Given the description of an element on the screen output the (x, y) to click on. 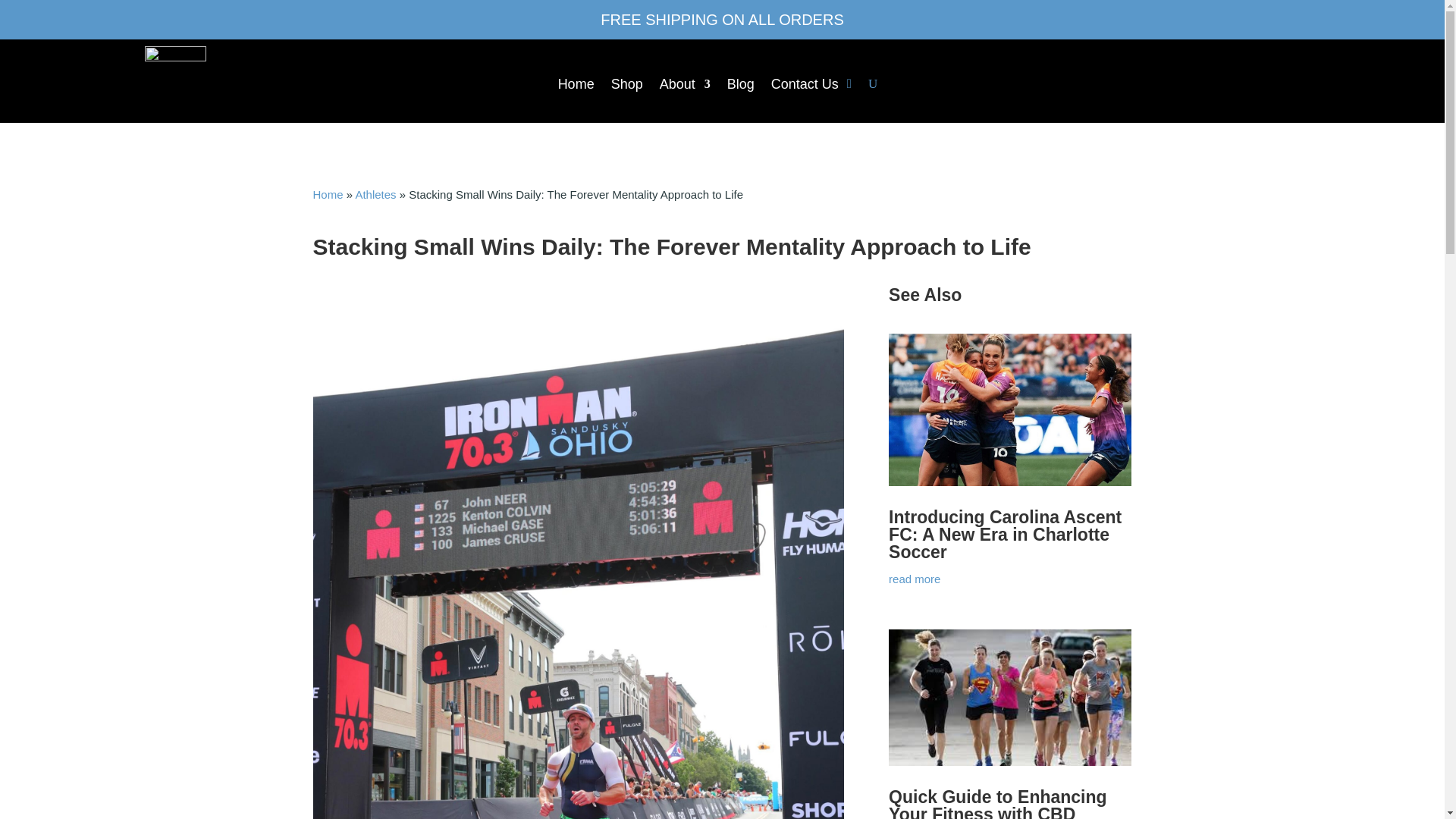
Shop (627, 86)
read more (1009, 579)
Athletes (375, 194)
Home (327, 194)
Quick Guide to Enhancing Your Fitness with CBD (997, 803)
Home (575, 86)
Blog (740, 86)
About (684, 86)
Contact Us (804, 86)
